Given the description of an element on the screen output the (x, y) to click on. 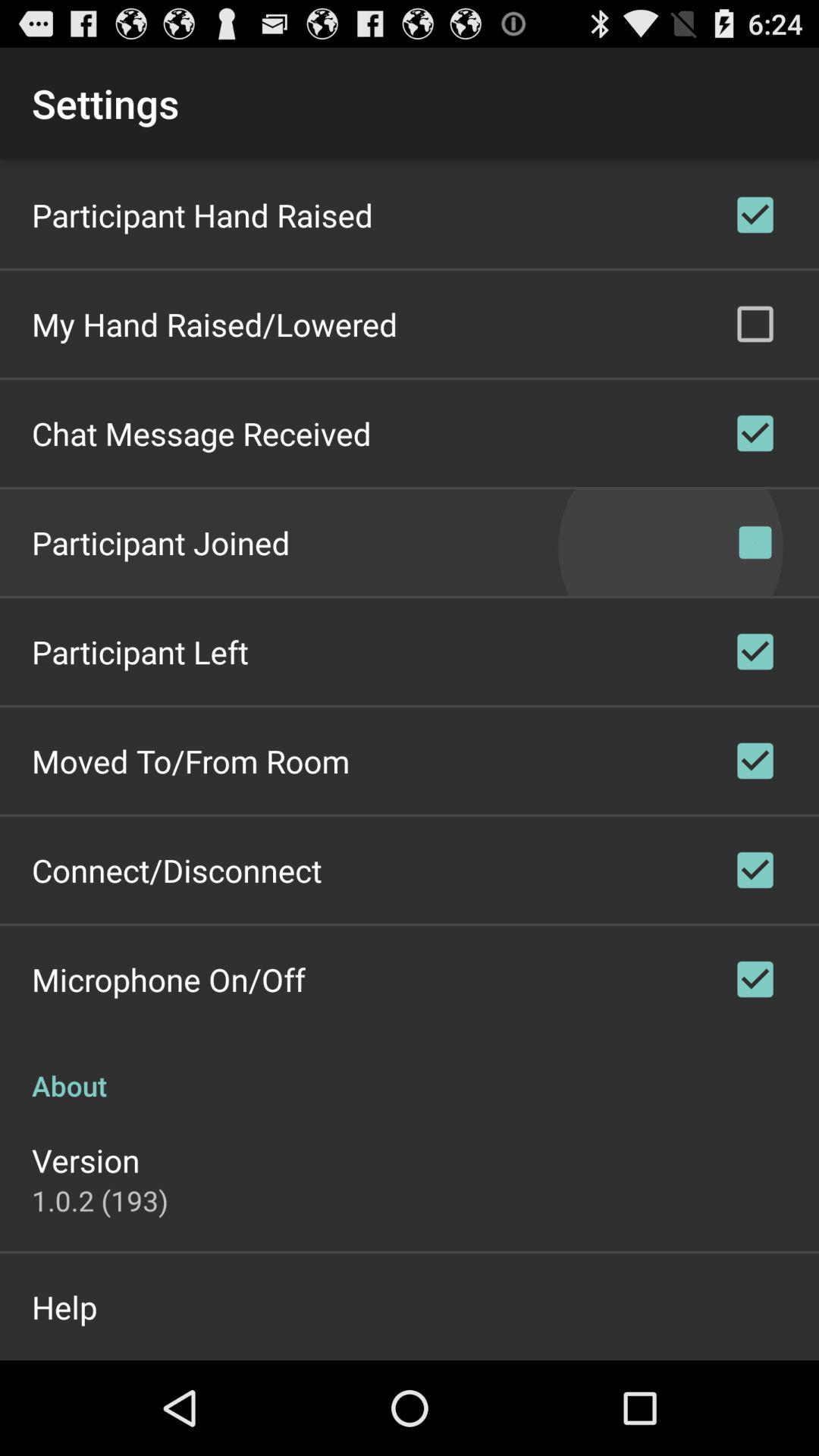
flip until the connect/disconnect icon (176, 869)
